Given the description of an element on the screen output the (x, y) to click on. 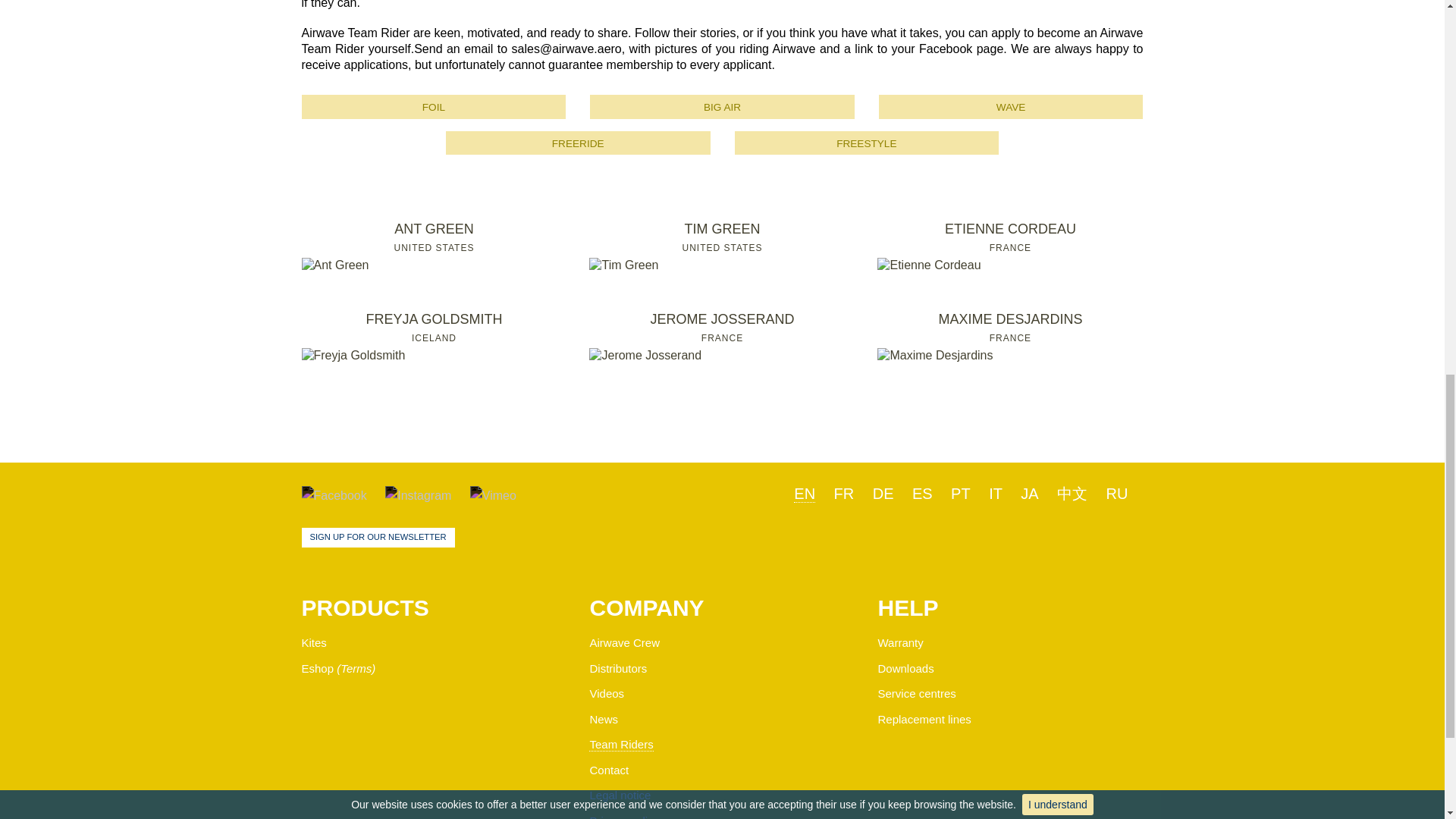
Kites (313, 642)
Eshop (721, 246)
FREESTYLE (317, 667)
PT (865, 143)
Ant Green (960, 493)
FOIL (335, 265)
SIGN UP FOR OUR NEWSLETTER (433, 106)
JA (377, 537)
BIG AIR (1029, 493)
FR (721, 336)
ES (434, 246)
EN (721, 106)
